Given the description of an element on the screen output the (x, y) to click on. 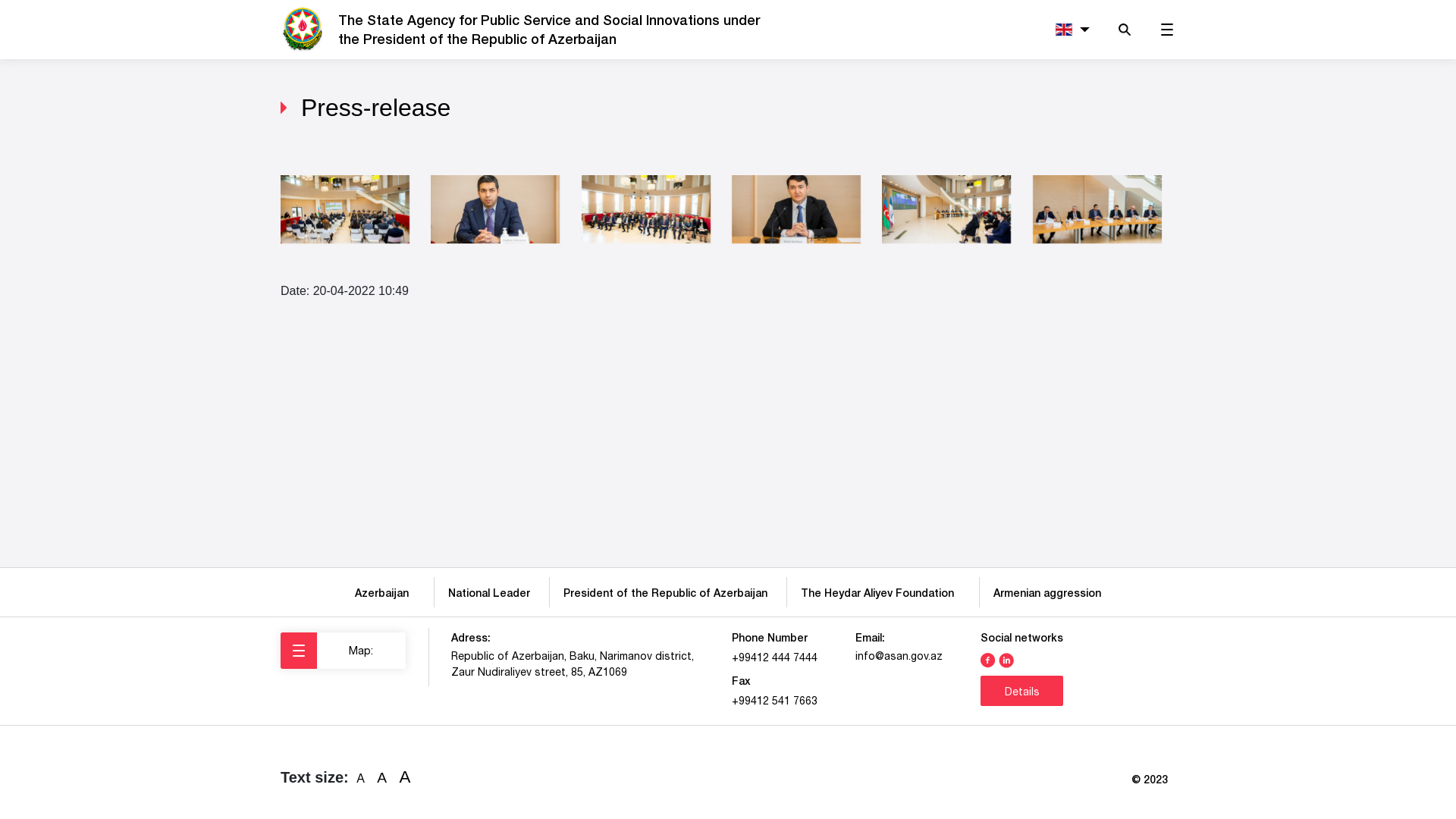
National Leader Element type: text (489, 592)
English Element type: hover (1069, 29)
linkedin Element type: hover (1005, 658)
A Element type: text (405, 776)
A Element type: text (360, 778)
A Element type: text (381, 778)
President of the Republic of Azerbaijan Element type: text (665, 592)
The Heydar Aliyev Foundation   Element type: text (880, 592)
Azerbaijan   Element type: text (384, 592)
Details Element type: text (1021, 690)
facebook Element type: hover (987, 658)
Map: Element type: text (342, 650)
Armenian aggression Element type: text (1047, 592)
+99412 444 7444 Element type: text (774, 657)
+99412 541 7663 Element type: text (774, 700)
